Given the description of an element on the screen output the (x, y) to click on. 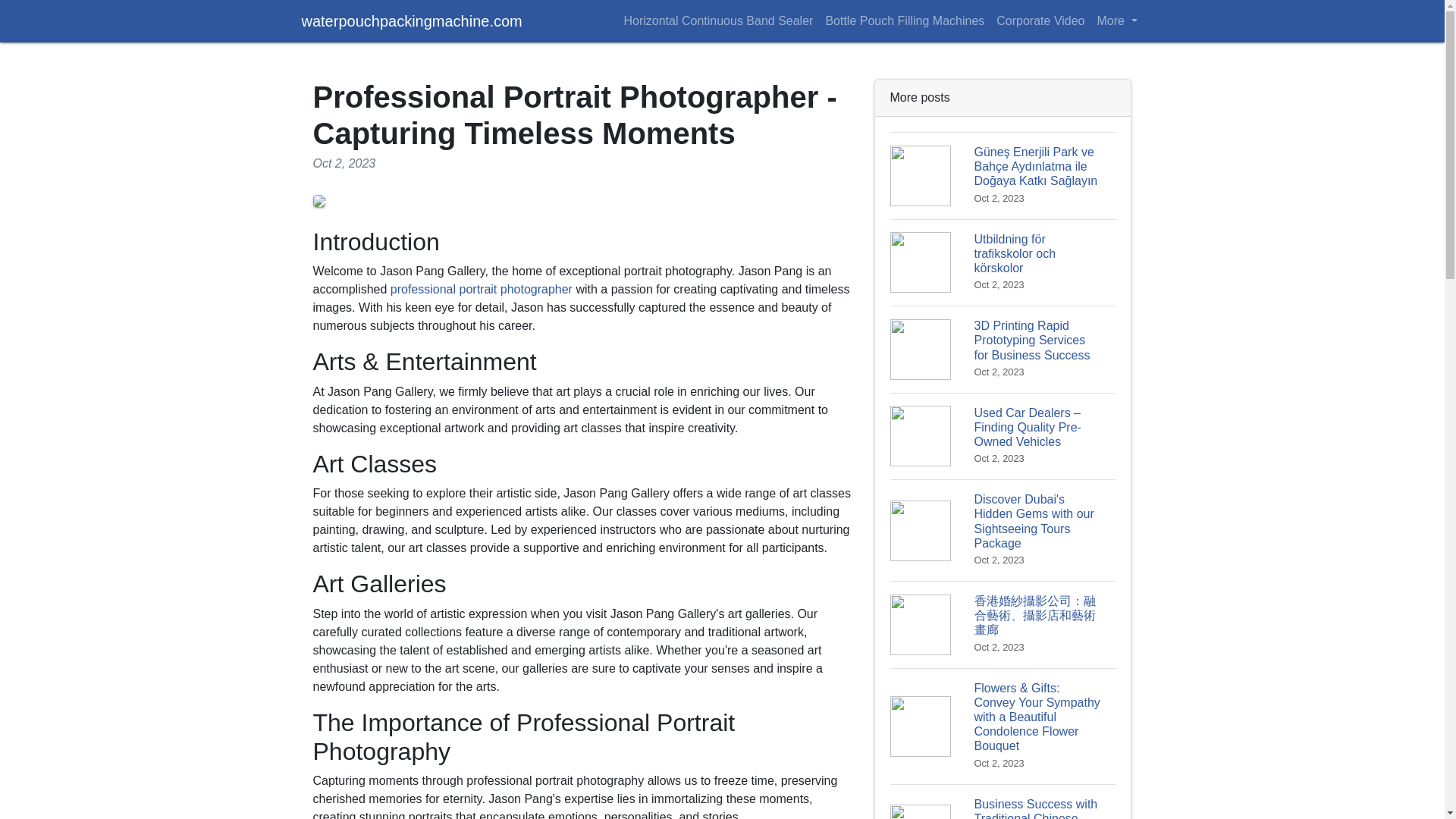
Bottle Pouch Filling Machines (904, 20)
professional portrait photographer (481, 288)
Horizontal Continuous Band Sealer (717, 20)
More (1116, 20)
waterpouchpackingmachine.com (411, 20)
Corporate Video (1040, 20)
